Given the description of an element on the screen output the (x, y) to click on. 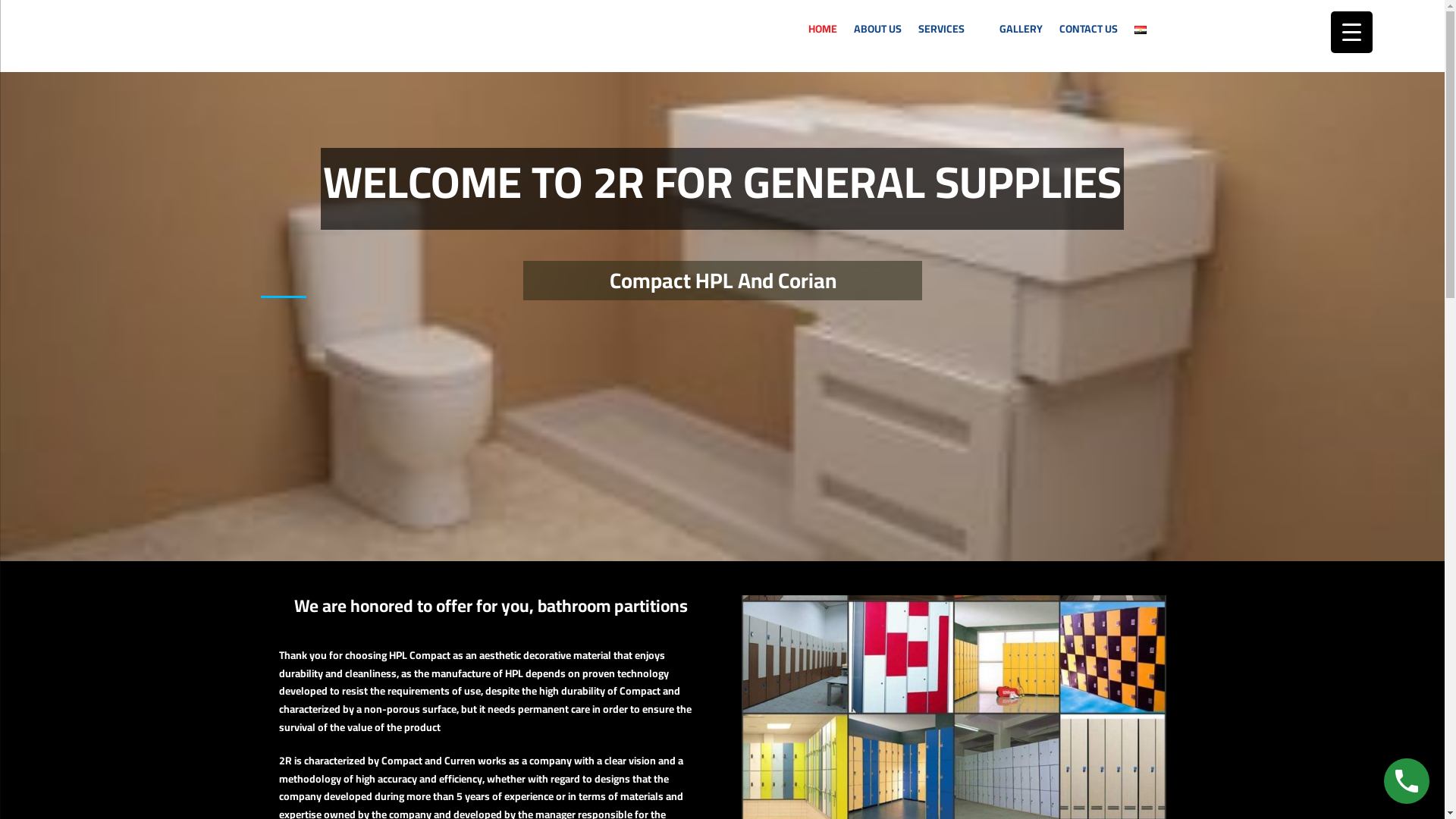
CORIAN Element type: text (993, 91)
2R For General Supplies Element type: hover (285, 18)
ABOUT US Element type: text (876, 32)
GALLERY Element type: text (1020, 32)
CONTACT US Element type: text (1088, 32)
COMPACT HPL Element type: text (993, 61)
SERVICES Element type: text (950, 32)
HOME Element type: text (821, 32)
